Given the description of an element on the screen output the (x, y) to click on. 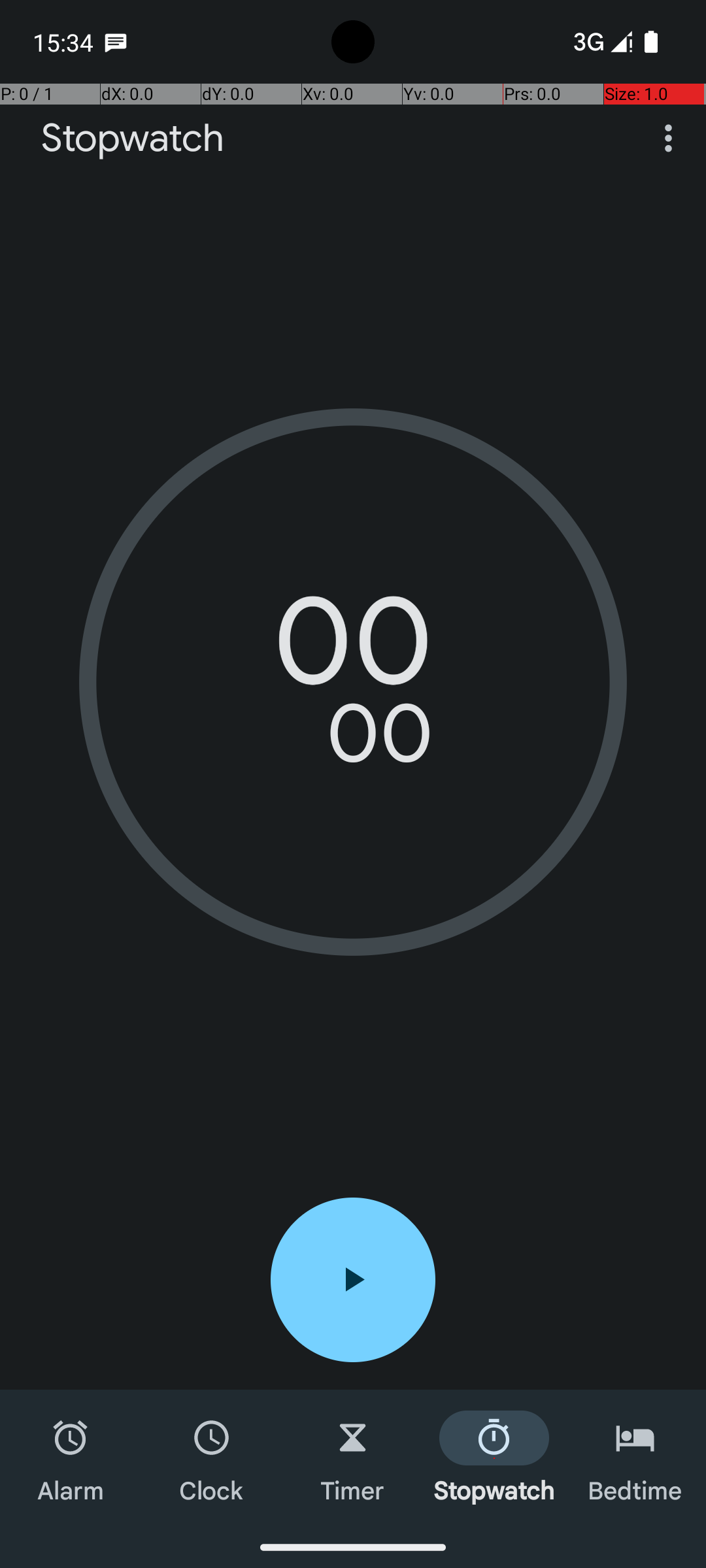
Start Element type: android.widget.Button (352, 1279)
